Given the description of an element on the screen output the (x, y) to click on. 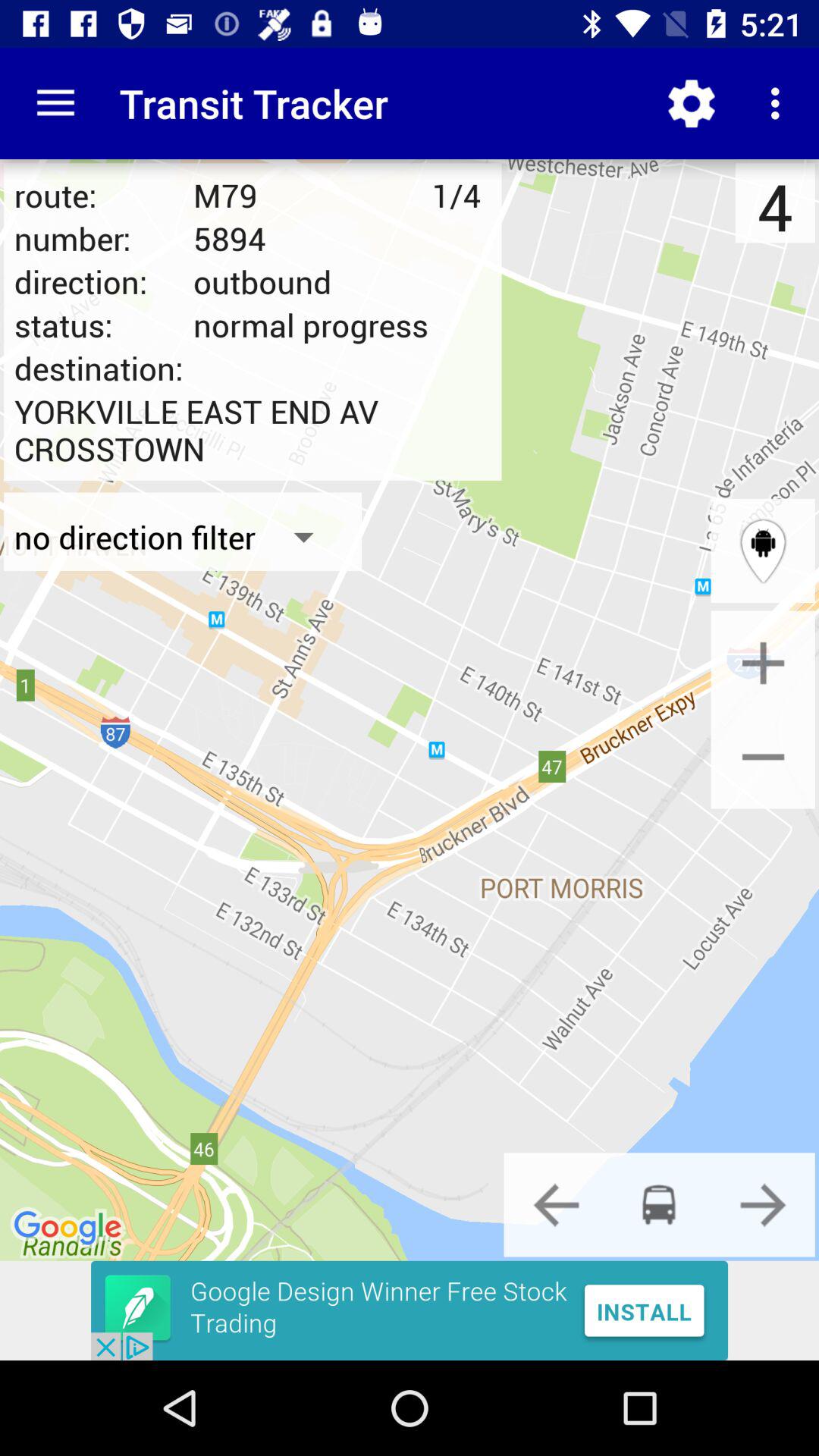
advertisement (409, 1310)
